Given the description of an element on the screen output the (x, y) to click on. 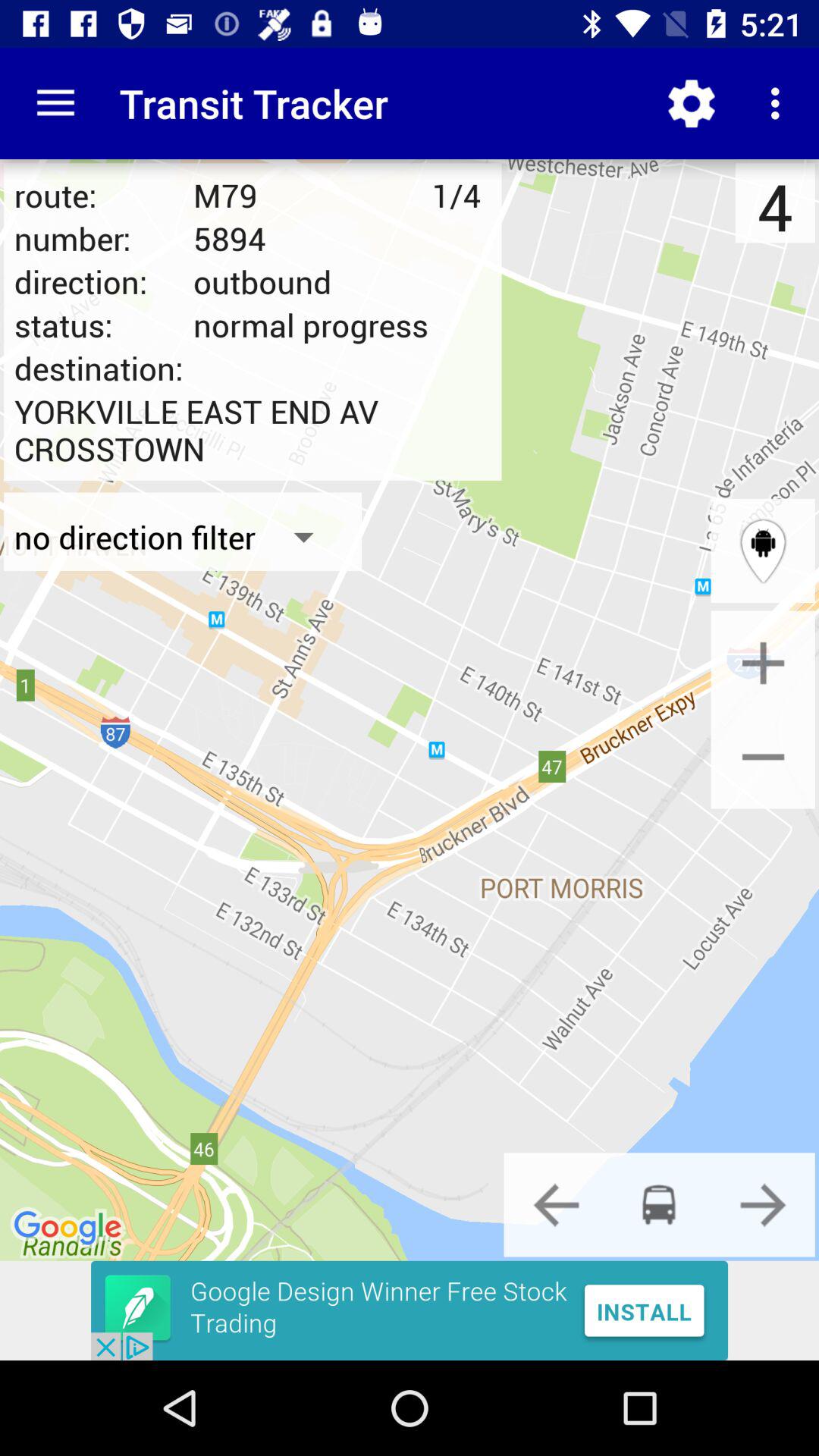
advertisement (409, 1310)
